Given the description of an element on the screen output the (x, y) to click on. 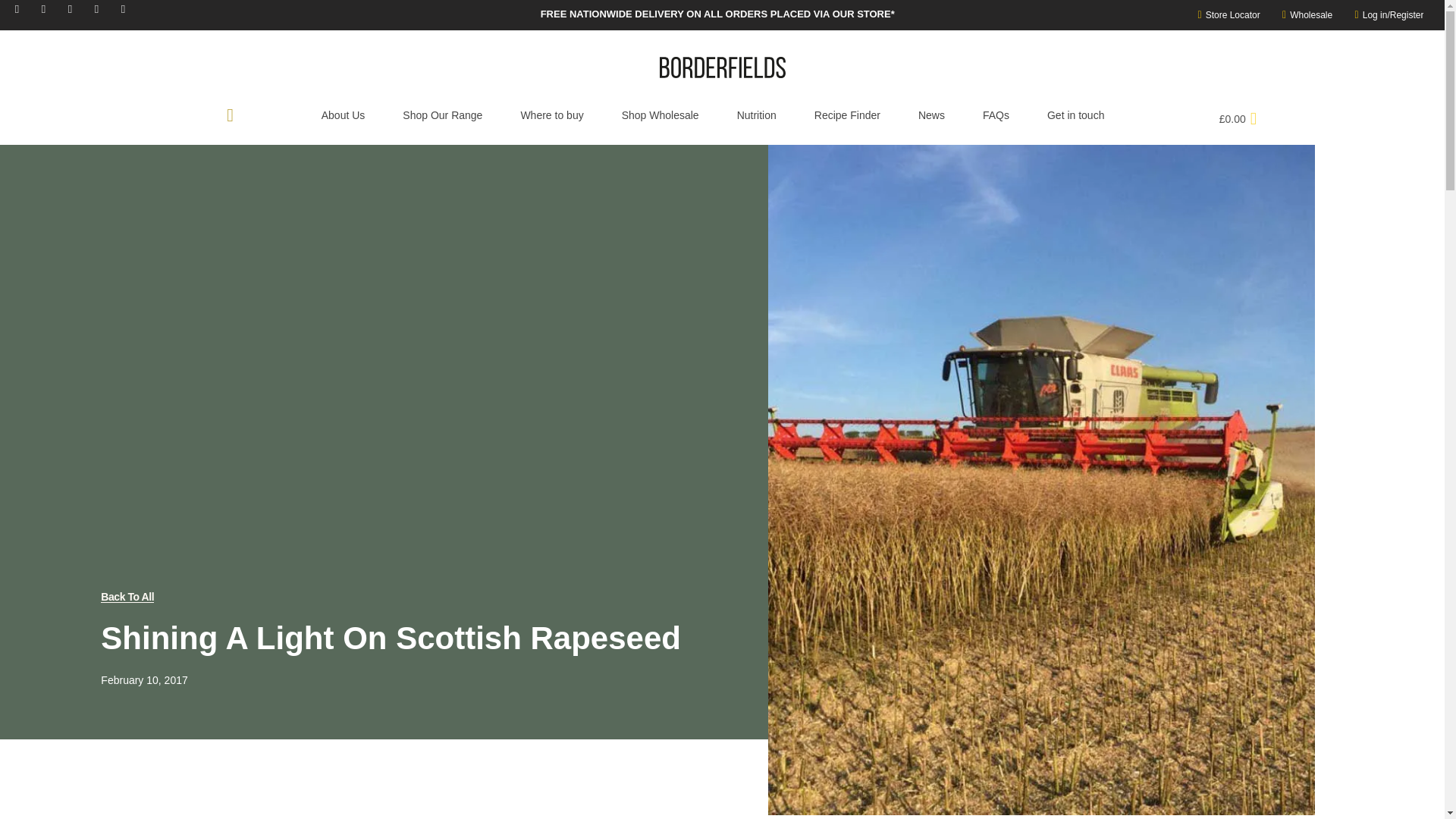
Where to buy (551, 115)
Recipe Finder (846, 115)
Get in touch (1075, 115)
Nutrition (756, 115)
News (931, 115)
Shop Our Range (442, 115)
FAQs (995, 115)
Shop Wholesale (659, 115)
Store Locator (1224, 14)
Wholesale (1302, 14)
